Given the description of an element on the screen output the (x, y) to click on. 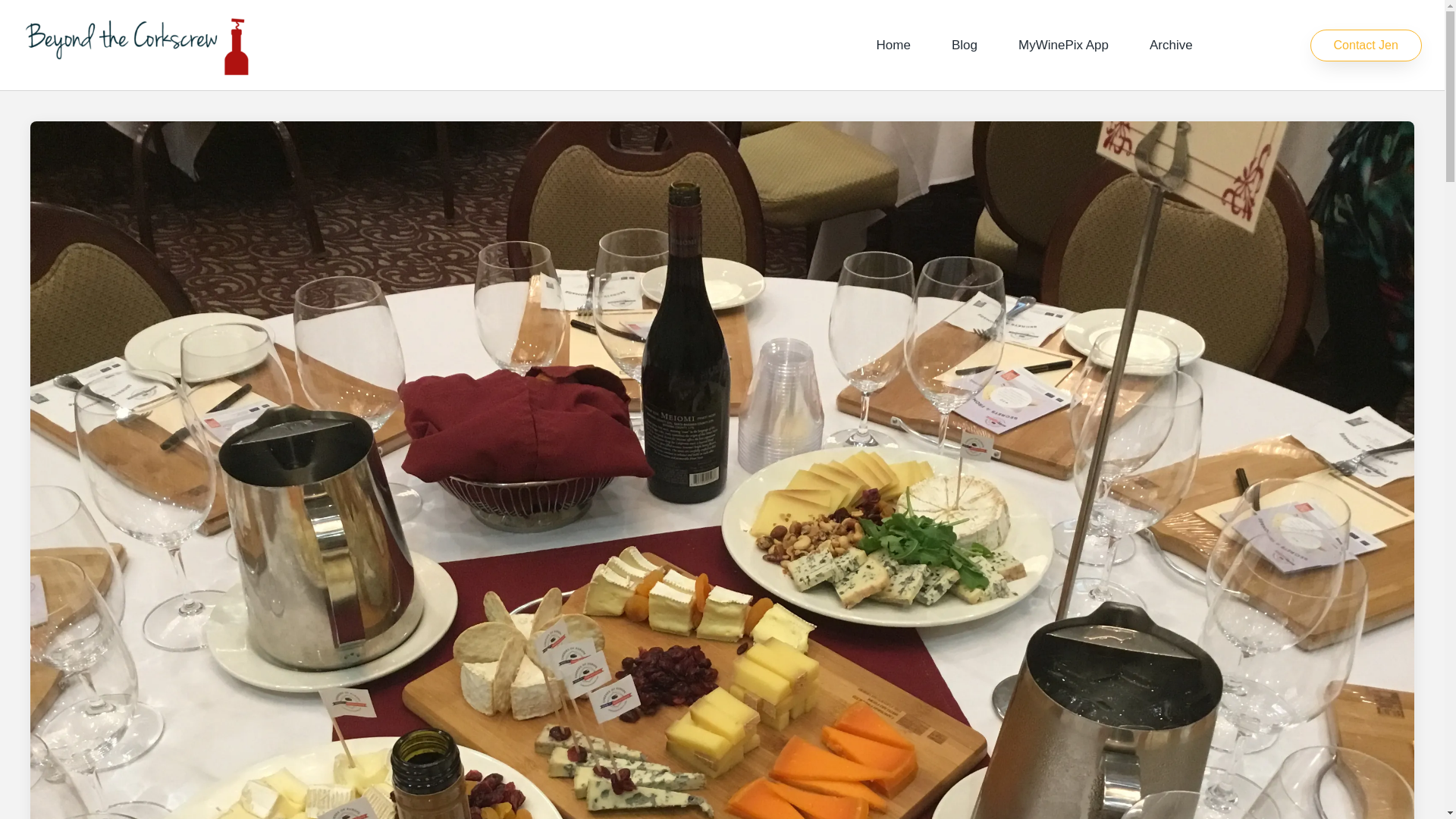
Archive (1170, 45)
Blog (964, 45)
Home (893, 45)
Contact Jen (1366, 45)
MyWinePix App (1063, 45)
